Given the description of an element on the screen output the (x, y) to click on. 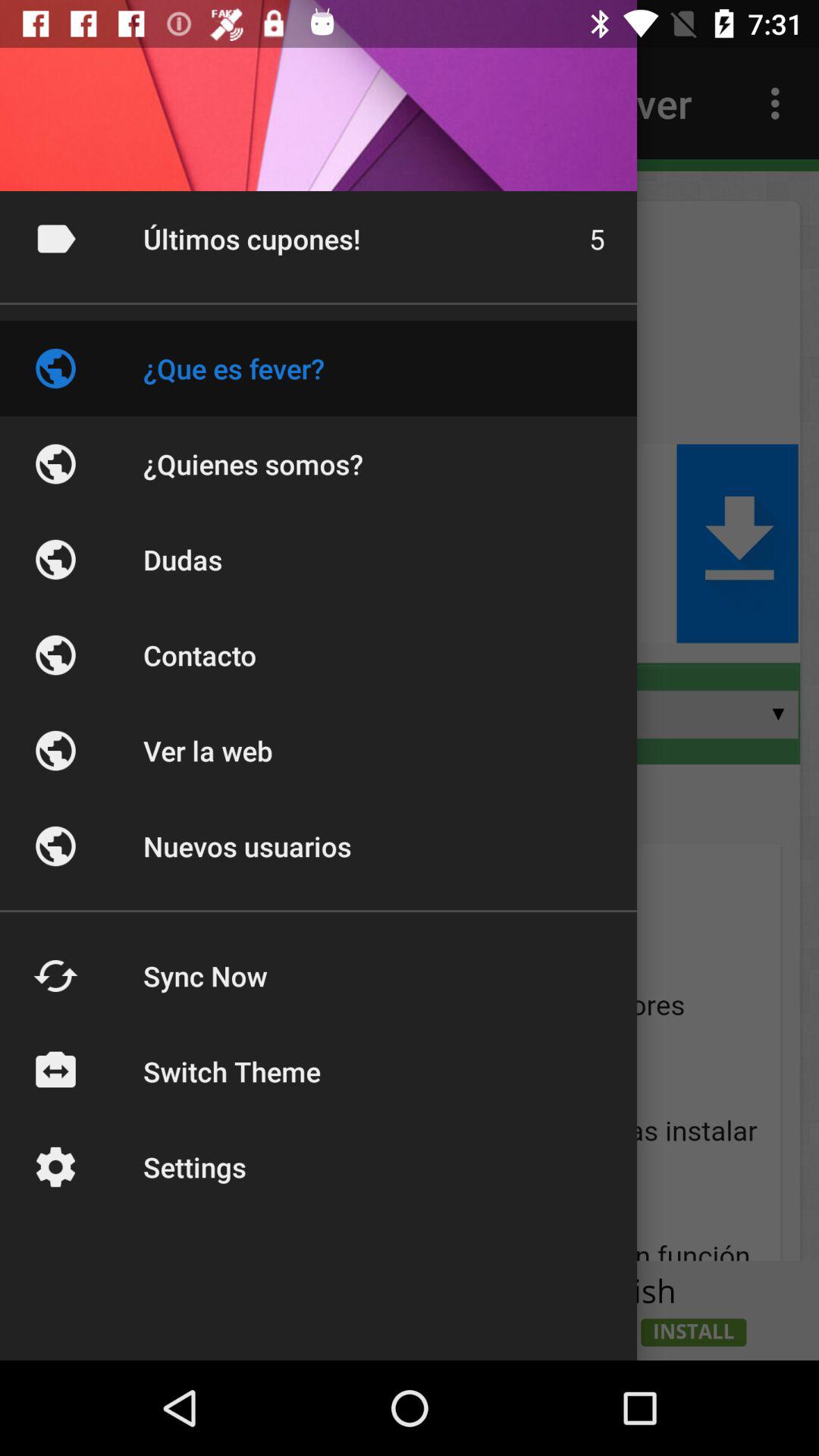
select the right corner symbol beside ultimos cupones (55, 238)
click on the symbol which is to the left of the settings (55, 1166)
second globe icon in the list (55, 464)
go to icon left to text sync now (55, 975)
